Given the description of an element on the screen output the (x, y) to click on. 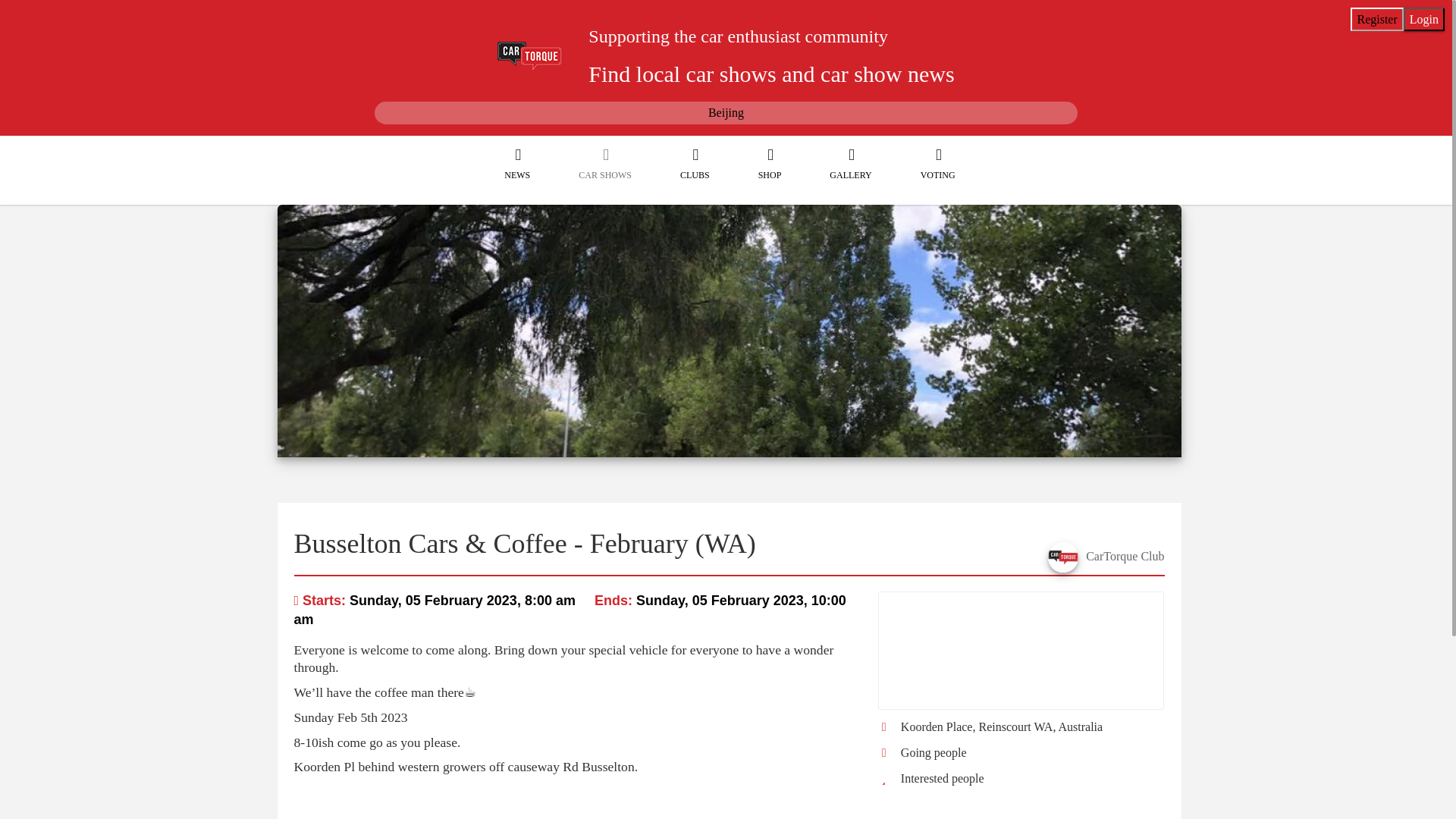
CarTorque Club (1124, 555)
Register (1377, 19)
Beijing (726, 112)
Login (1423, 19)
GALLERY (846, 174)
CAR SHOWS (600, 174)
